Given the description of an element on the screen output the (x, y) to click on. 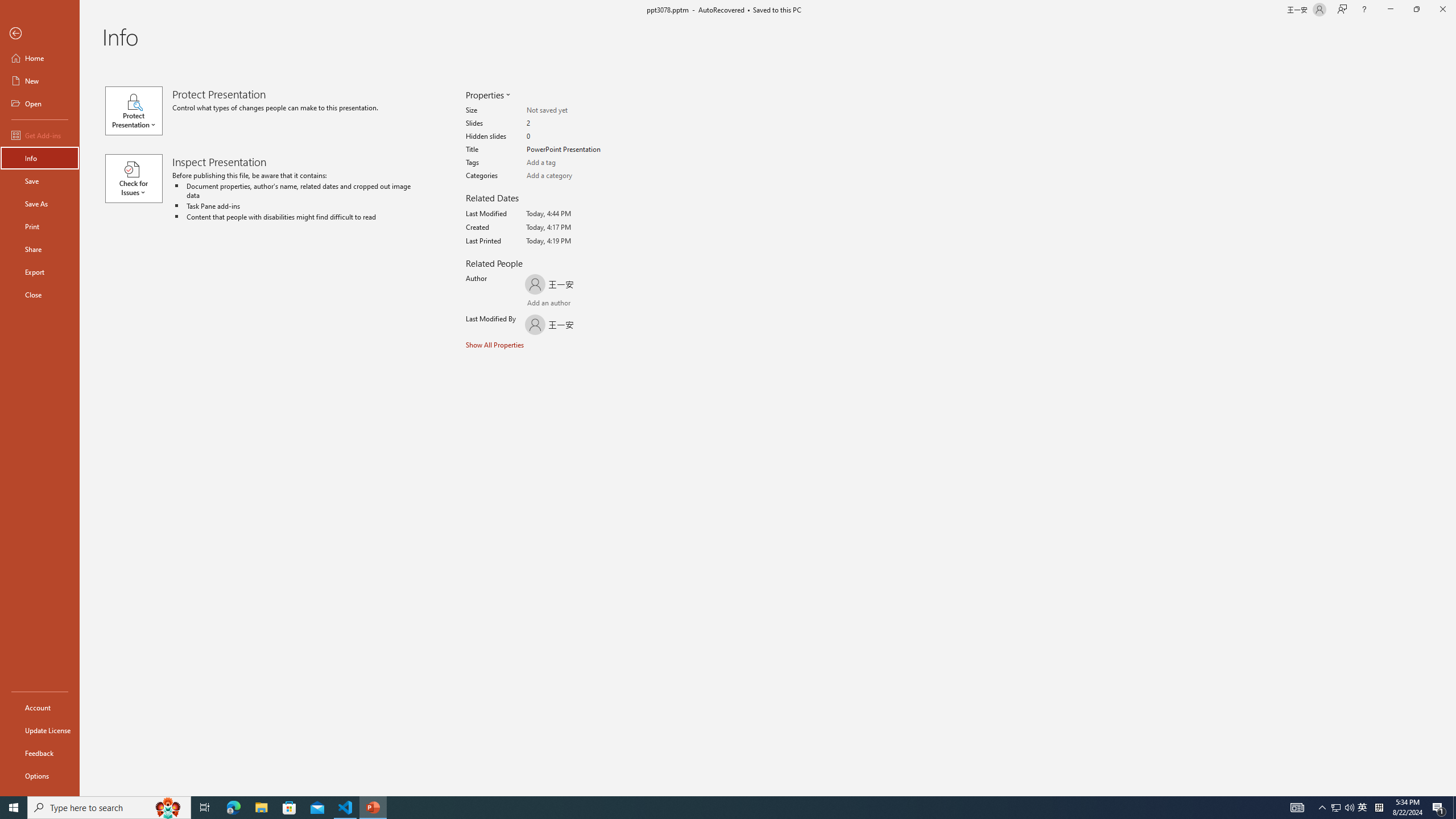
Slides (571, 123)
Options (40, 775)
Print (40, 225)
Feedback (40, 753)
Export (40, 271)
Browse Address Book (595, 304)
